Given the description of an element on the screen output the (x, y) to click on. 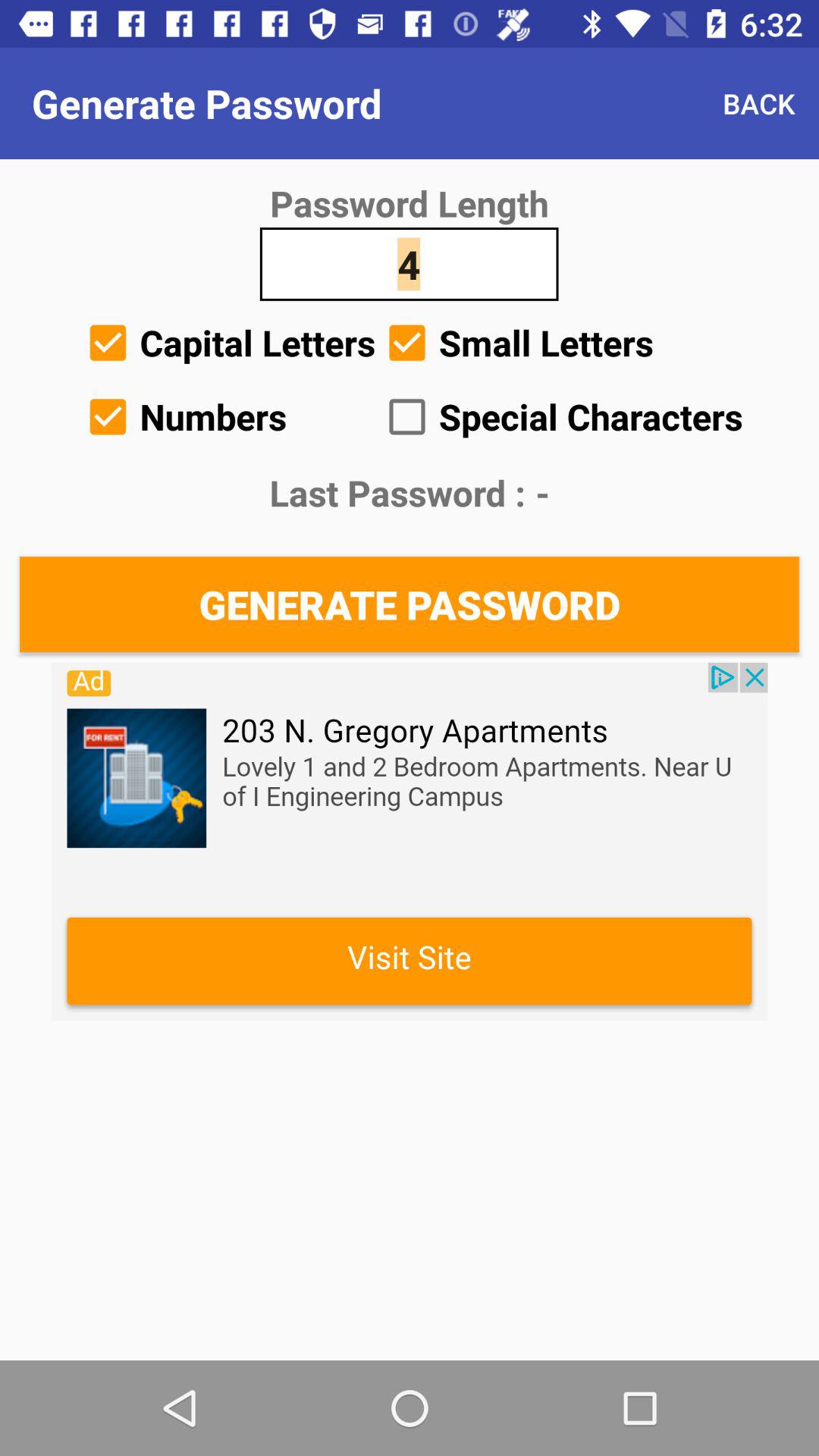
advertisement (409, 841)
